Given the description of an element on the screen output the (x, y) to click on. 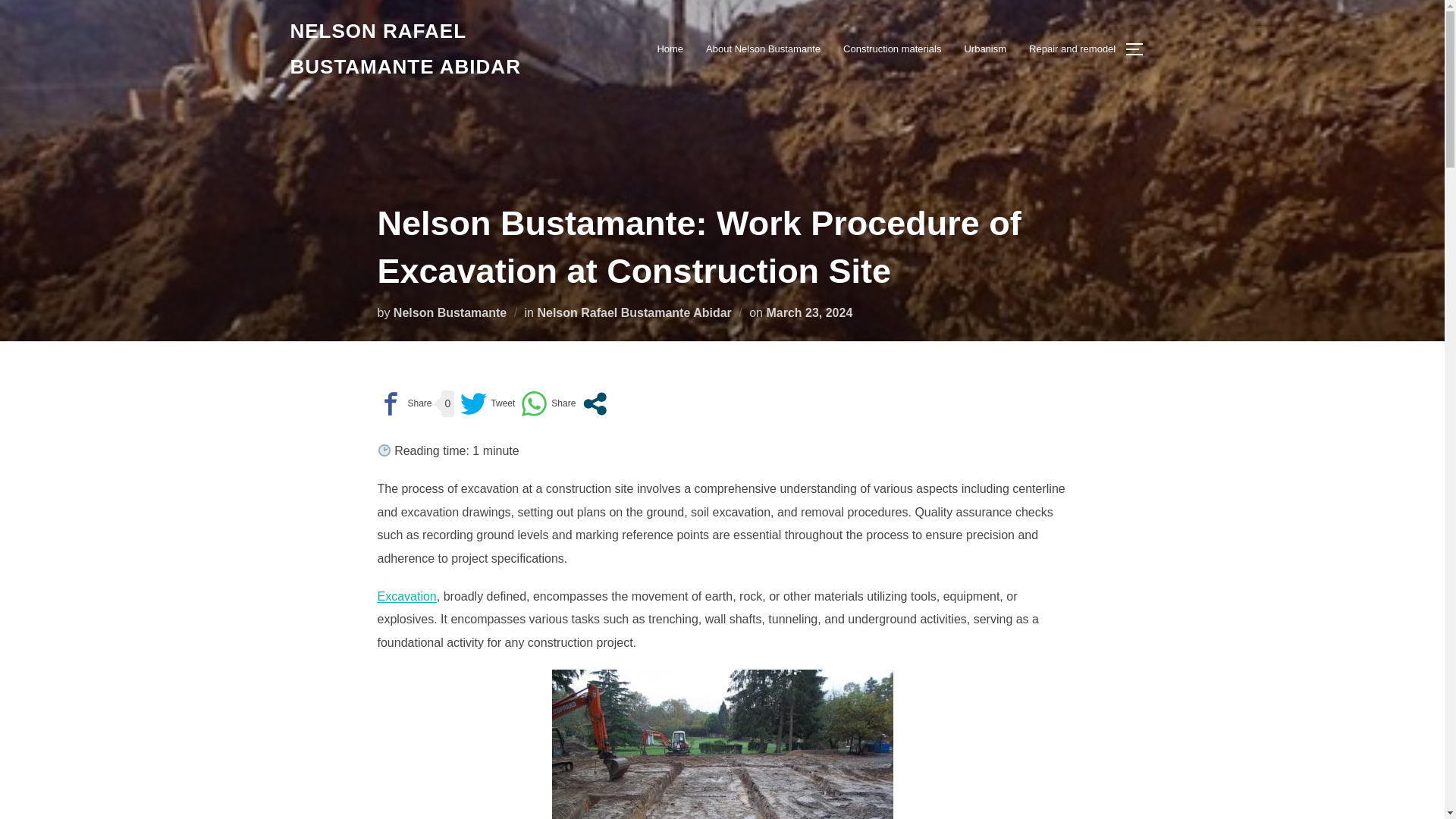
About Nelson Bustamante (763, 48)
Open modal social networks (594, 403)
Nelson Rafael Bustamante Abidar (633, 312)
Repair and remodel (1072, 48)
March 23, 2024 (808, 312)
Urbanism (984, 48)
Construction (421, 49)
Share on WhatsApp (548, 403)
Tweet (487, 403)
Construction materials (891, 48)
Nelson Bustamante (449, 312)
Share on Facebook (404, 403)
Home (669, 48)
NELSON RAFAEL BUSTAMANTE ABIDAR (421, 49)
